Given the description of an element on the screen output the (x, y) to click on. 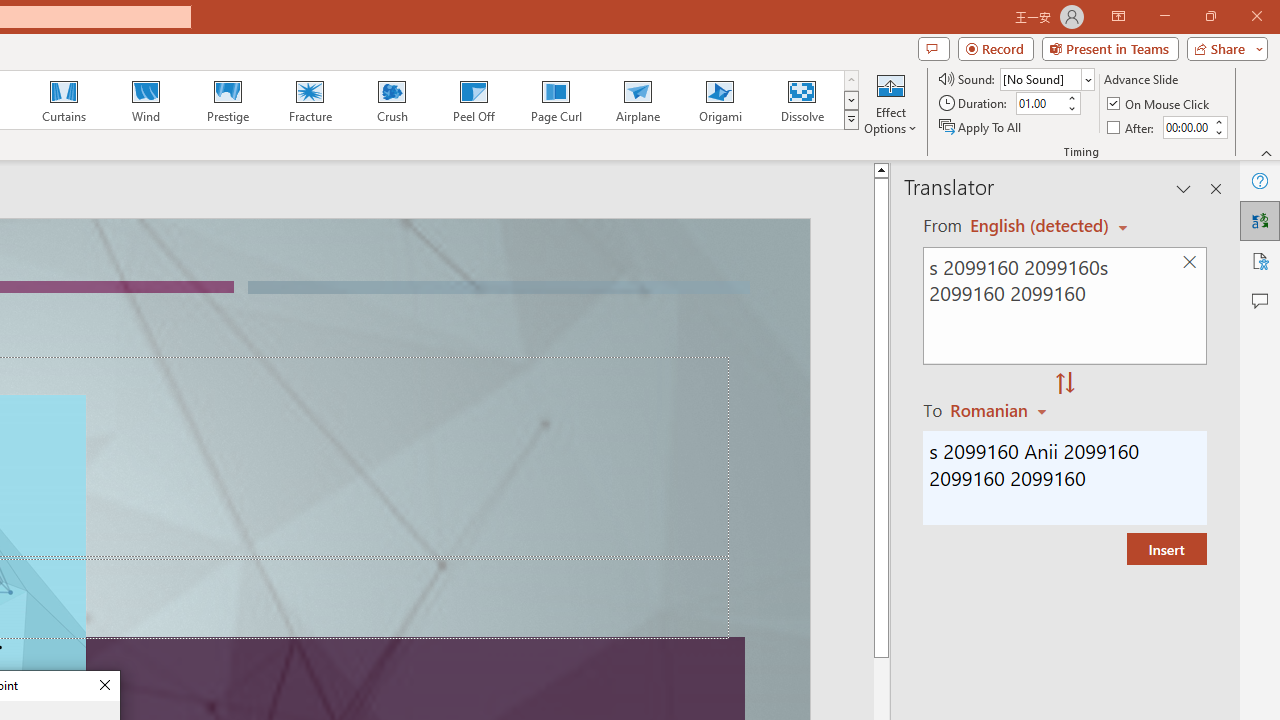
After (1186, 127)
Dissolve (802, 100)
Sound (1046, 78)
Apply To All (981, 126)
Crush (391, 100)
Origami (719, 100)
Transition Effects (850, 120)
